Given the description of an element on the screen output the (x, y) to click on. 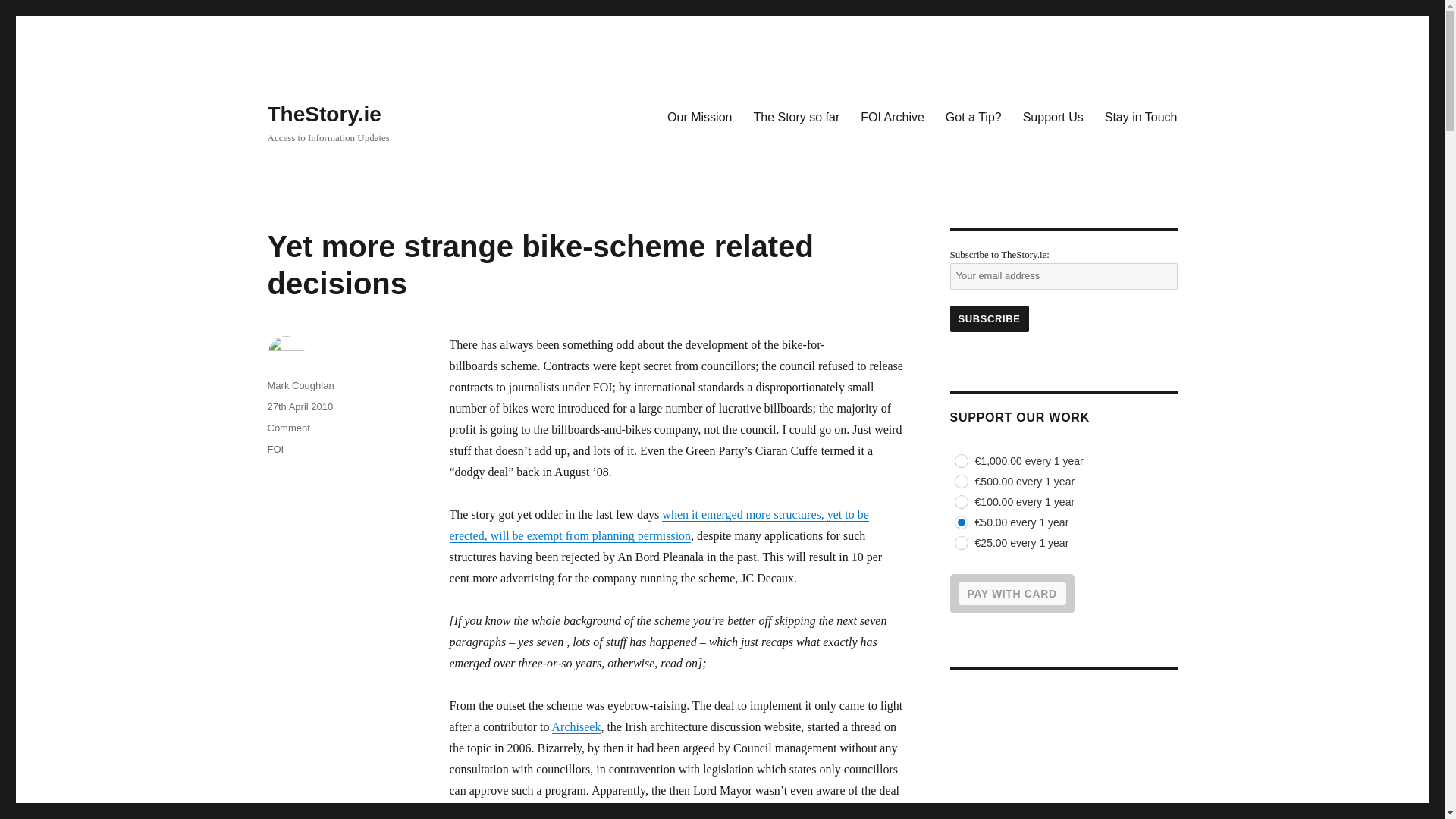
Subscribe (988, 318)
Support Us (1052, 116)
Subscribe (988, 318)
FOI (274, 449)
Got a Tip? (972, 116)
Stay in Touch (1141, 116)
Our Mission (699, 116)
Comment (287, 428)
Archiseek (576, 726)
The Story so far (796, 116)
